Given the description of an element on the screen output the (x, y) to click on. 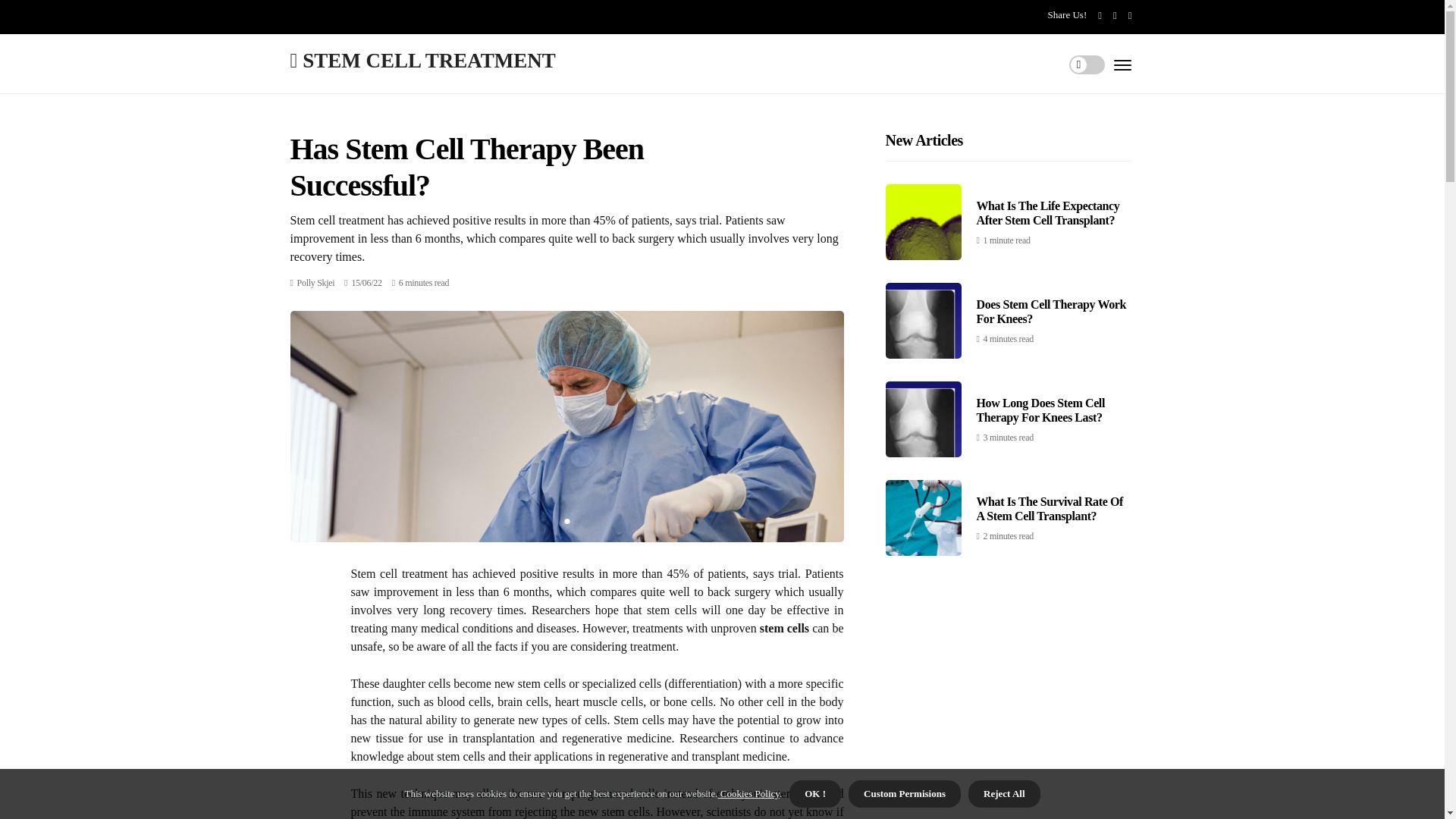
Polly Skjei (315, 282)
Posts by Polly Skjei (315, 282)
Does Stem Cell Therapy Work For Knees? (1051, 311)
STEM CELL TREATMENT (421, 59)
How Long Does Stem Cell Therapy For Knees Last? (1040, 410)
What Is The Survival Rate Of A Stem Cell Transplant? (1049, 508)
What Is The Life Expectancy After Stem Cell Transplant? (1047, 212)
